Given the description of an element on the screen output the (x, y) to click on. 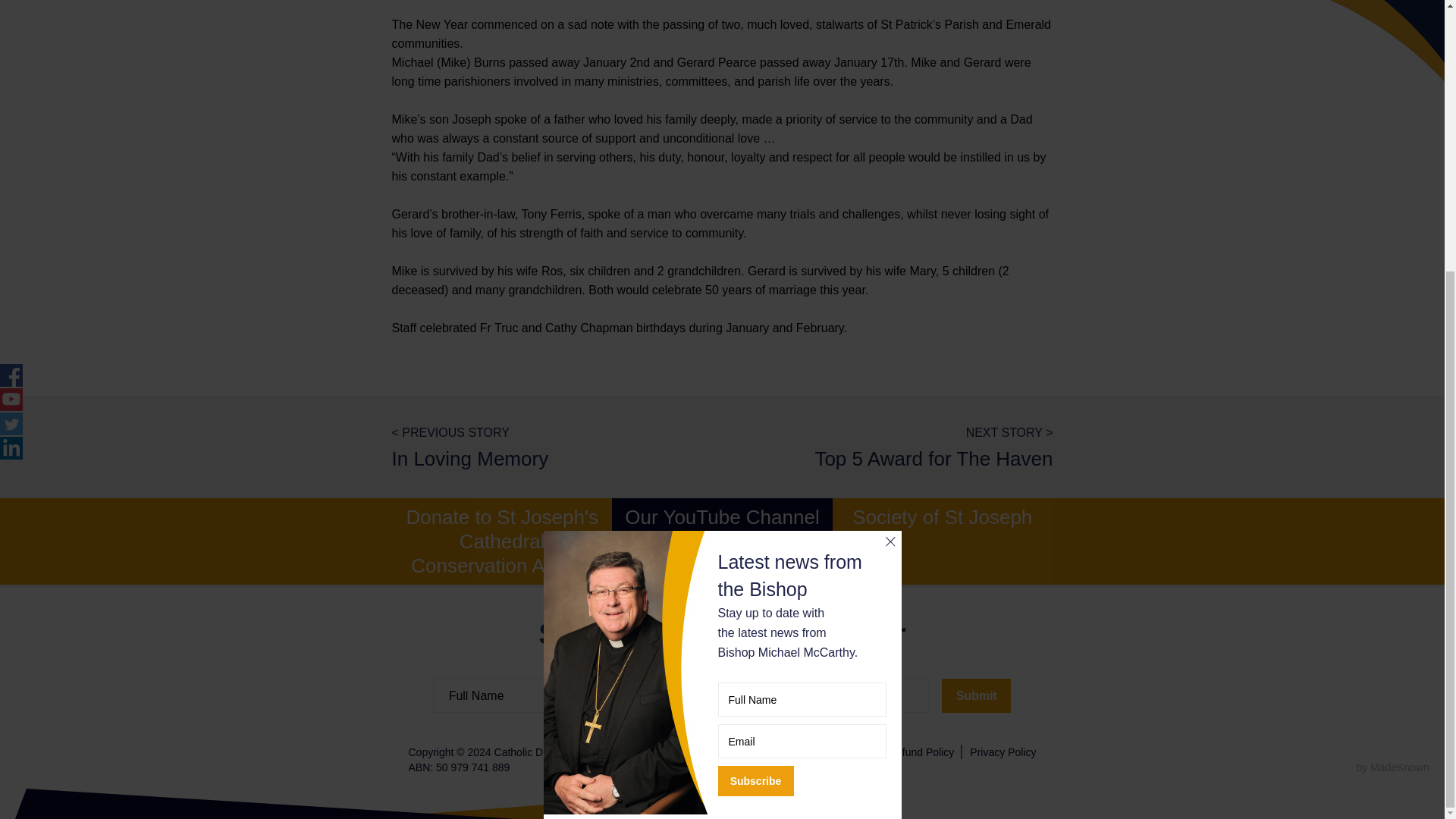
In Loving Memory (523, 446)
Submit (976, 695)
Subscribe (755, 382)
Top 5 Award for The Haven (920, 446)
